Given the description of an element on the screen output the (x, y) to click on. 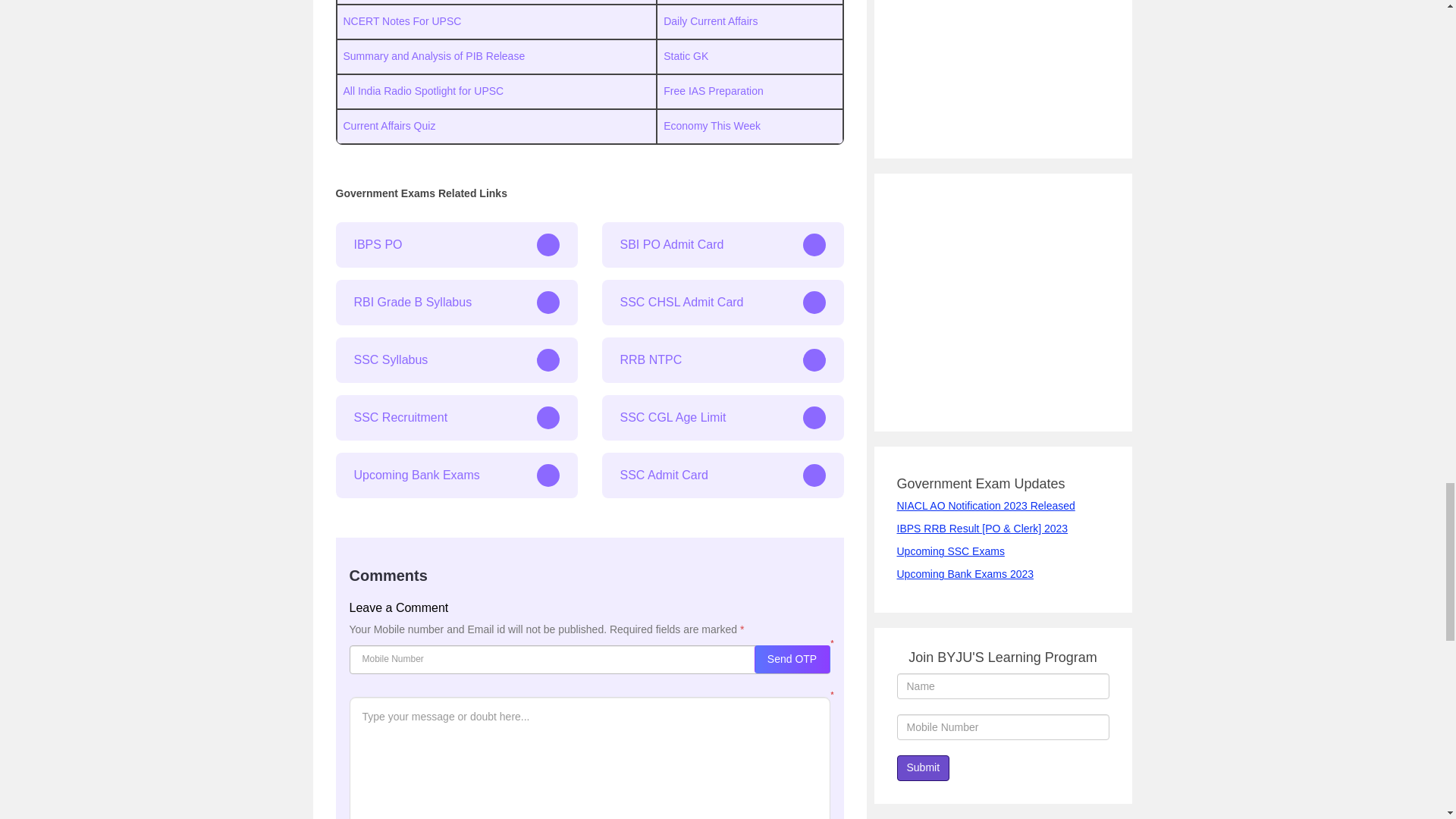
SBI PO Admit Card (723, 244)
IBPS PO (455, 244)
SSC Recruitment (455, 417)
RBI Grade B Syllabus (455, 302)
SSC CHSL Admit Card (723, 302)
RRB NTPC (723, 360)
SSC CGL Age Limit (723, 417)
Upcoming Bank Exams (455, 474)
SSC Admit Card (723, 474)
SSC Syllabus (455, 360)
